Given the description of an element on the screen output the (x, y) to click on. 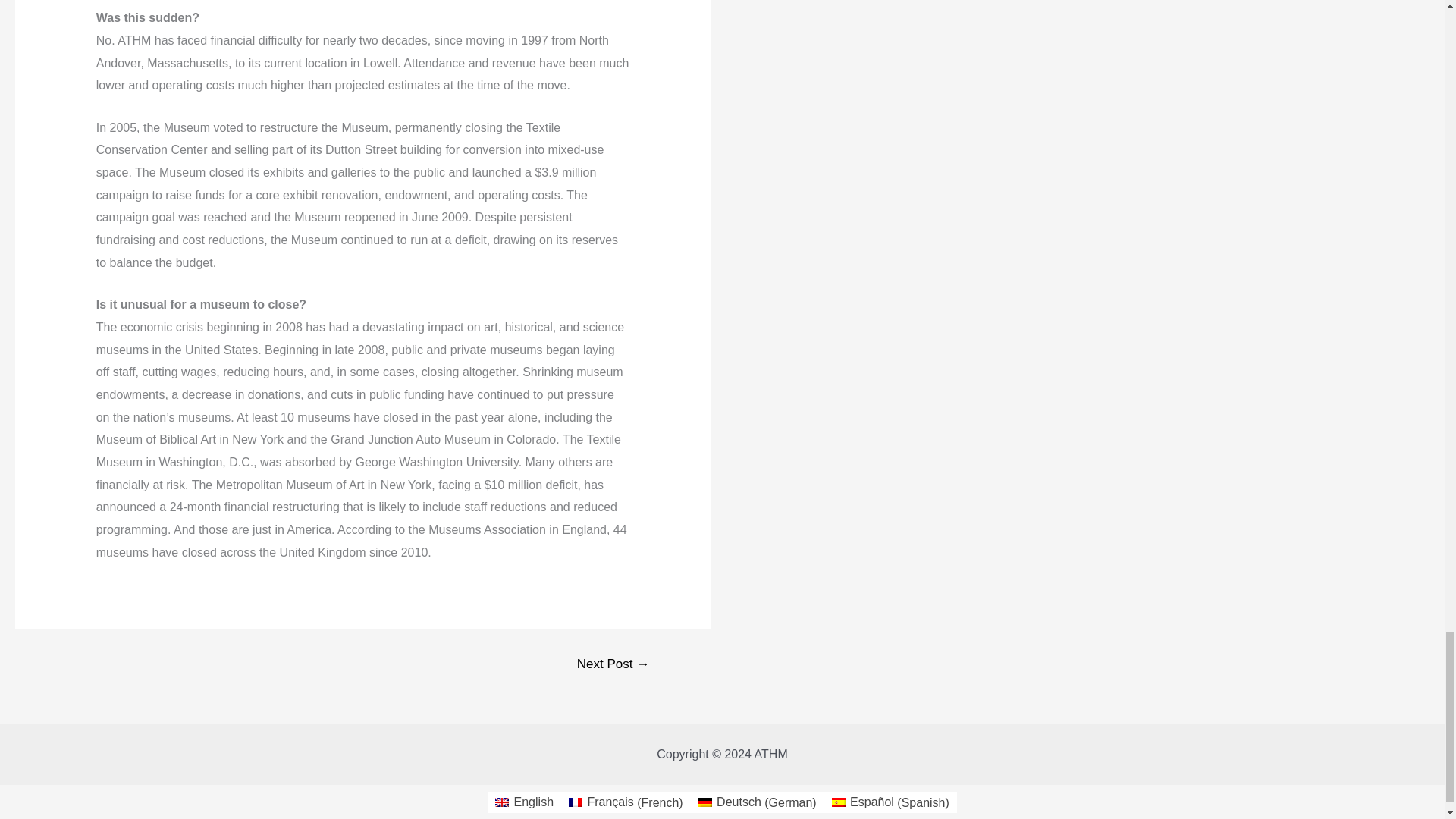
English (523, 803)
